Given the description of an element on the screen output the (x, y) to click on. 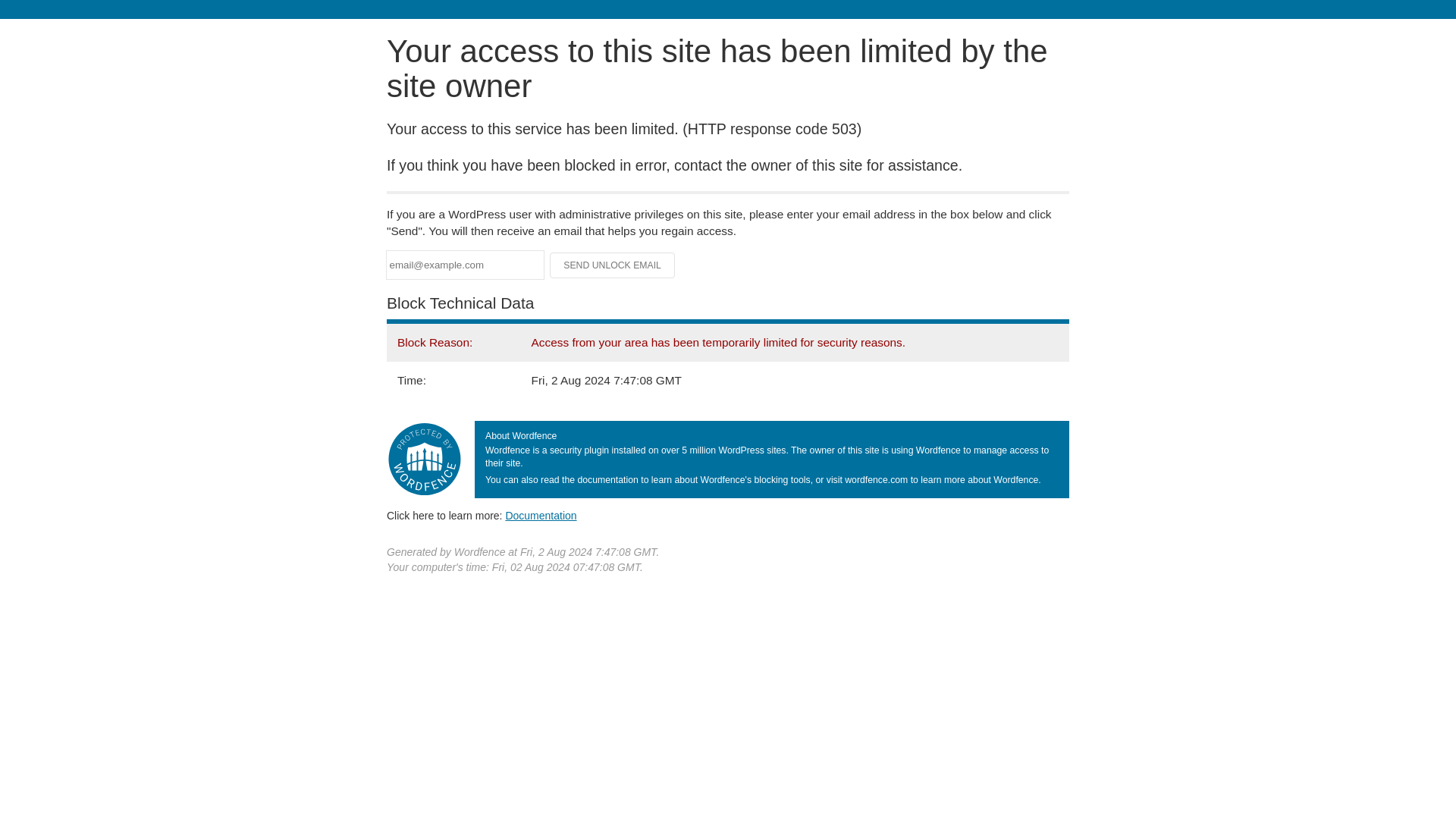
Documentation (540, 515)
Send Unlock Email (612, 265)
Send Unlock Email (612, 265)
